Given the description of an element on the screen output the (x, y) to click on. 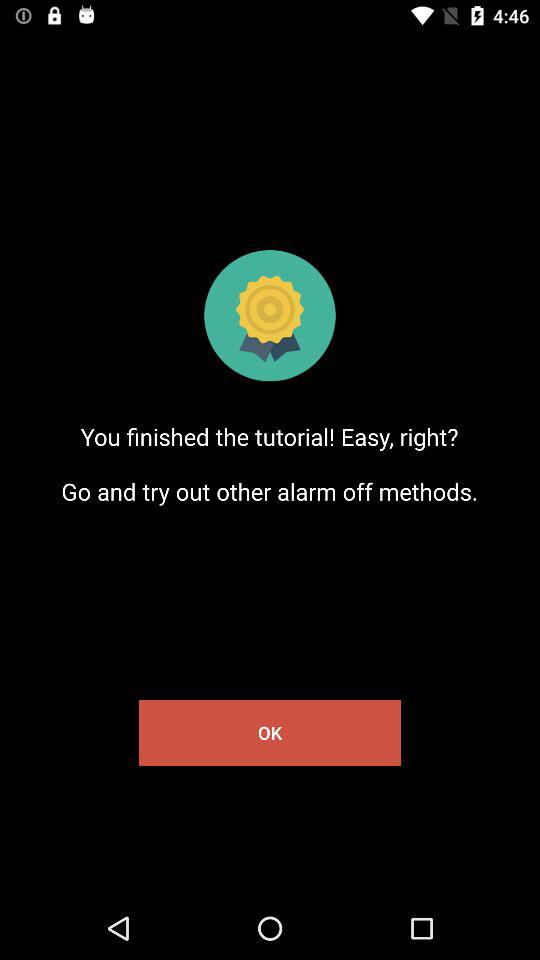
click the app below you finished the icon (269, 732)
